Given the description of an element on the screen output the (x, y) to click on. 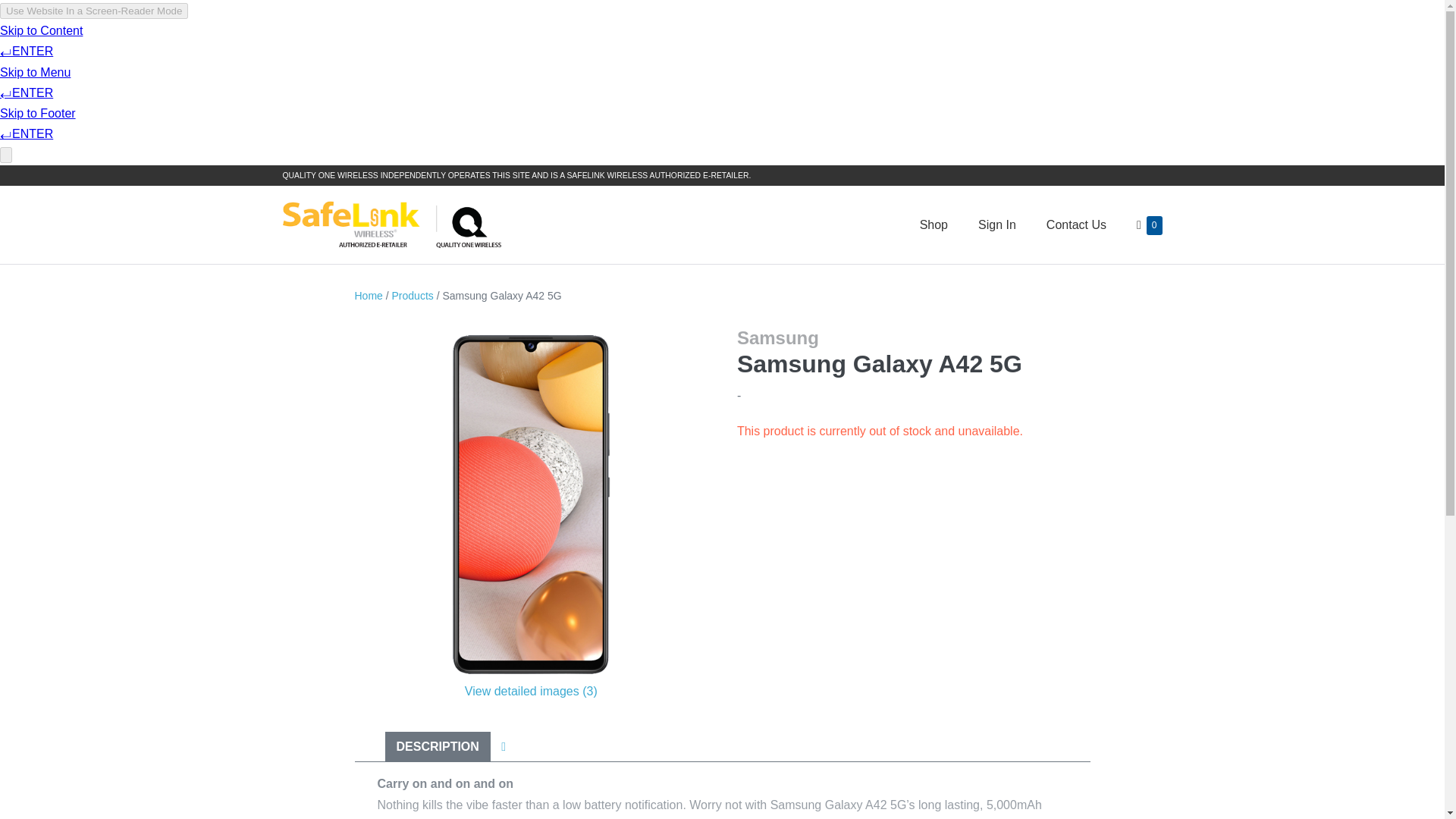
SafeLink Wireless (392, 224)
Shopping Cart (1141, 224)
Products (412, 295)
Sign In (996, 224)
Shop (933, 224)
Contact Us (1141, 224)
Home (1075, 224)
DESCRIPTION (368, 295)
